Given the description of an element on the screen output the (x, y) to click on. 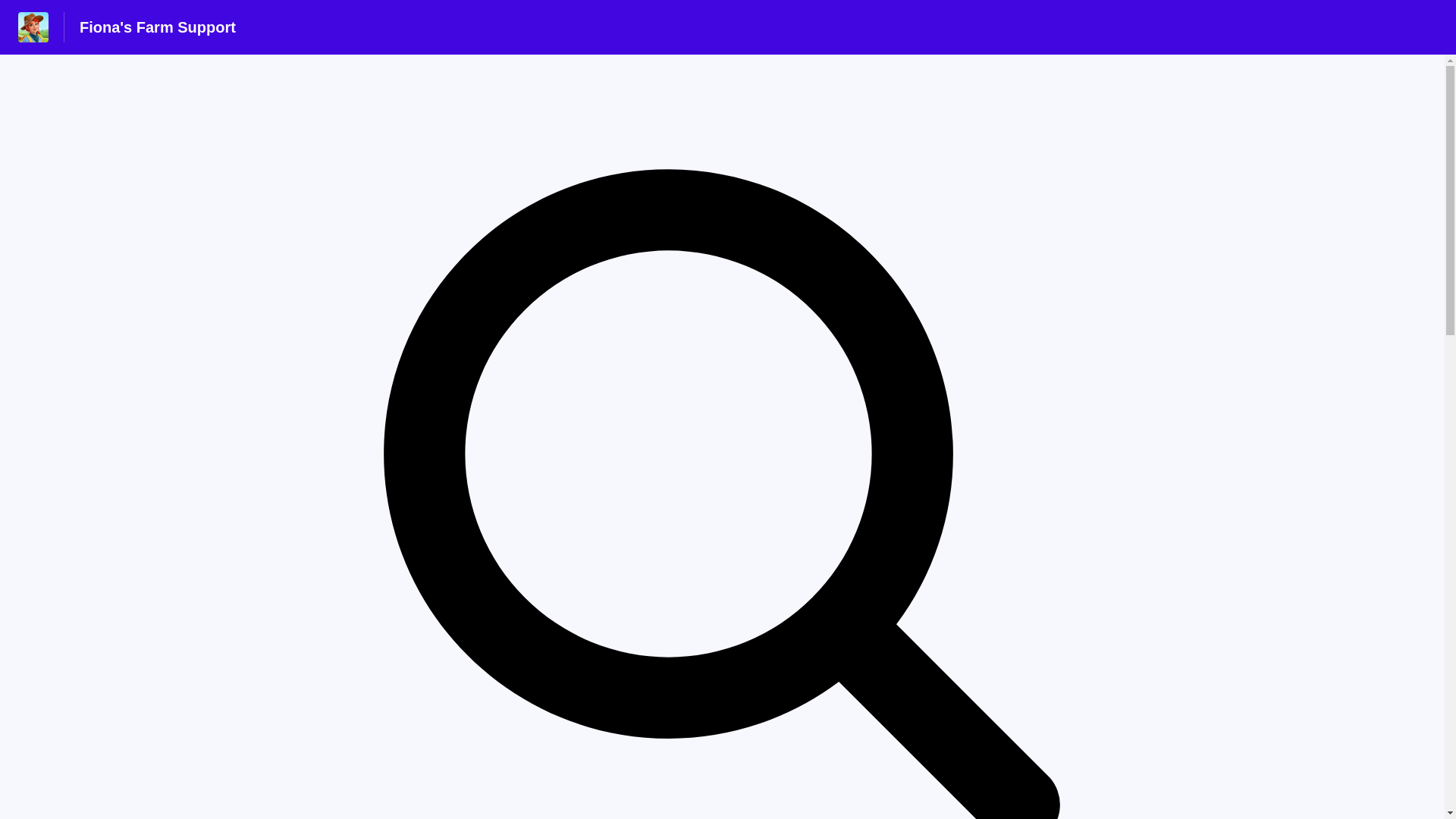
Fiona's Farm Support (157, 27)
